Given the description of an element on the screen output the (x, y) to click on. 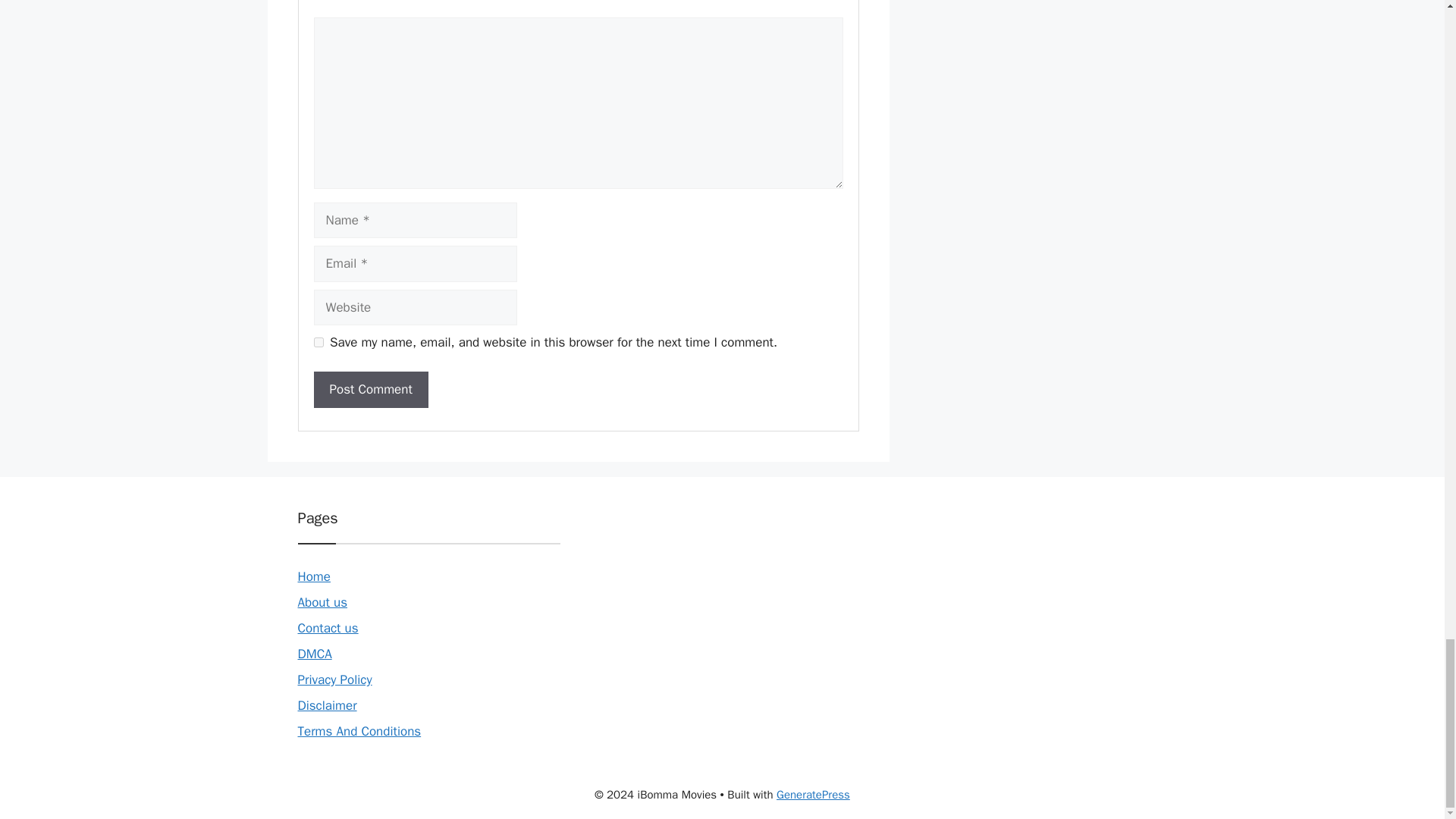
Post Comment (371, 389)
Post Comment (371, 389)
yes (318, 342)
